Given the description of an element on the screen output the (x, y) to click on. 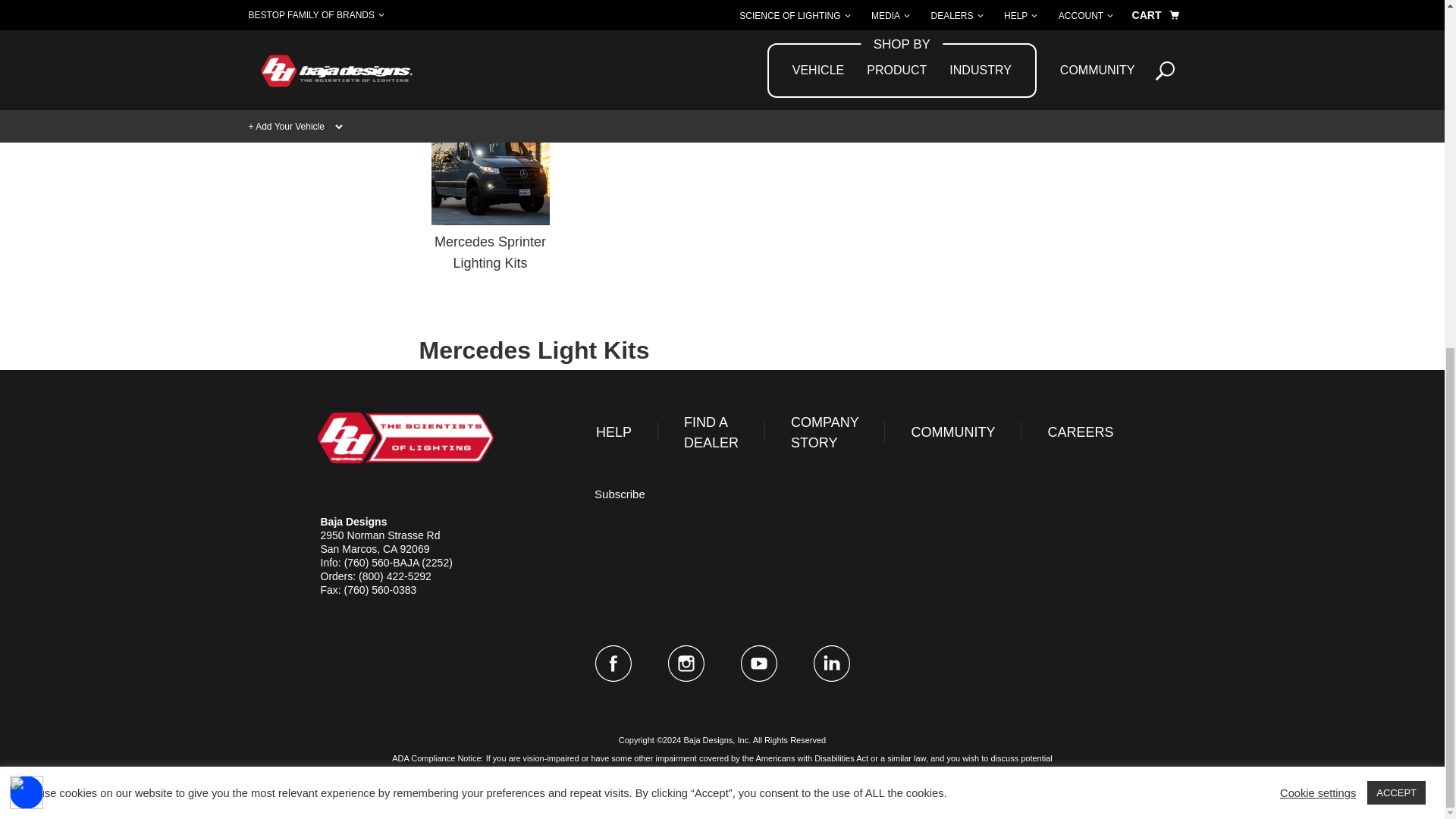
Accessibility Menu (26, 192)
